Given the description of an element on the screen output the (x, y) to click on. 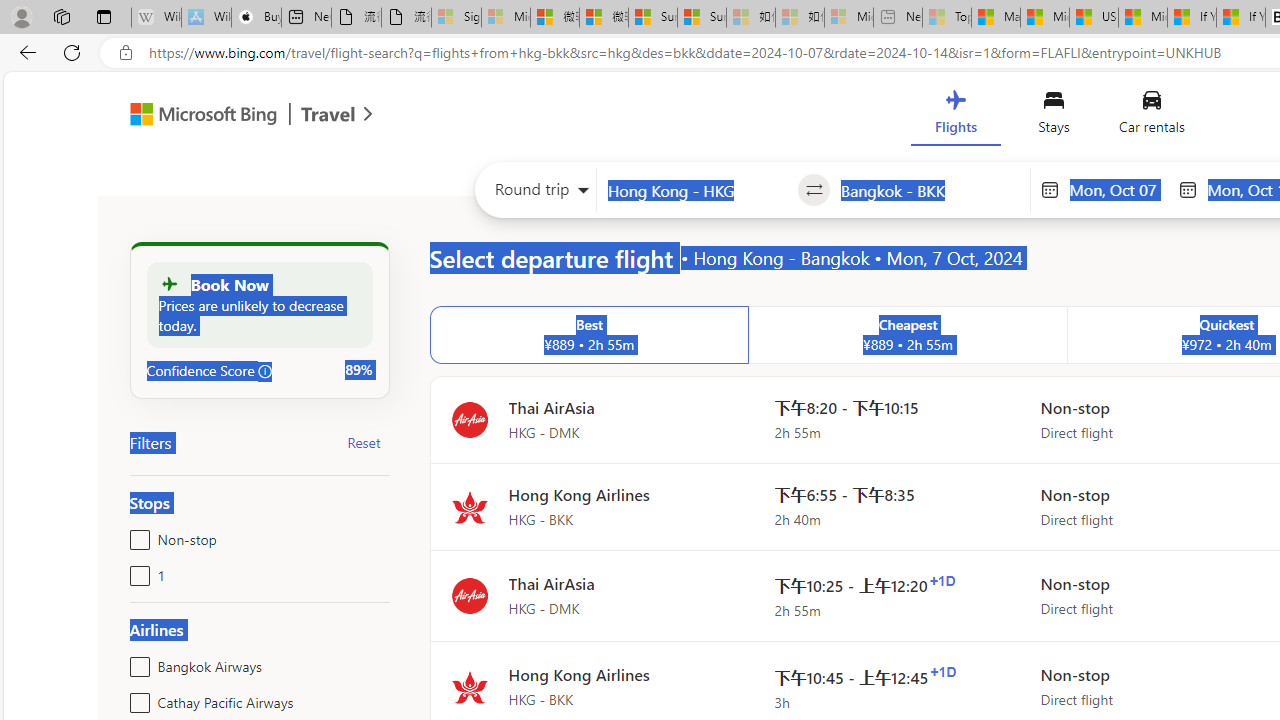
Flight logo (469, 687)
Stays (1053, 116)
Non-stop (136, 535)
Class: autosuggest-container full-height no-y-padding (930, 190)
Class: msft-travel-logo (328, 114)
Top Stories - MSN - Sleeping (946, 17)
Microsoft Bing Travel (229, 116)
Reset (363, 442)
